Given the description of an element on the screen output the (x, y) to click on. 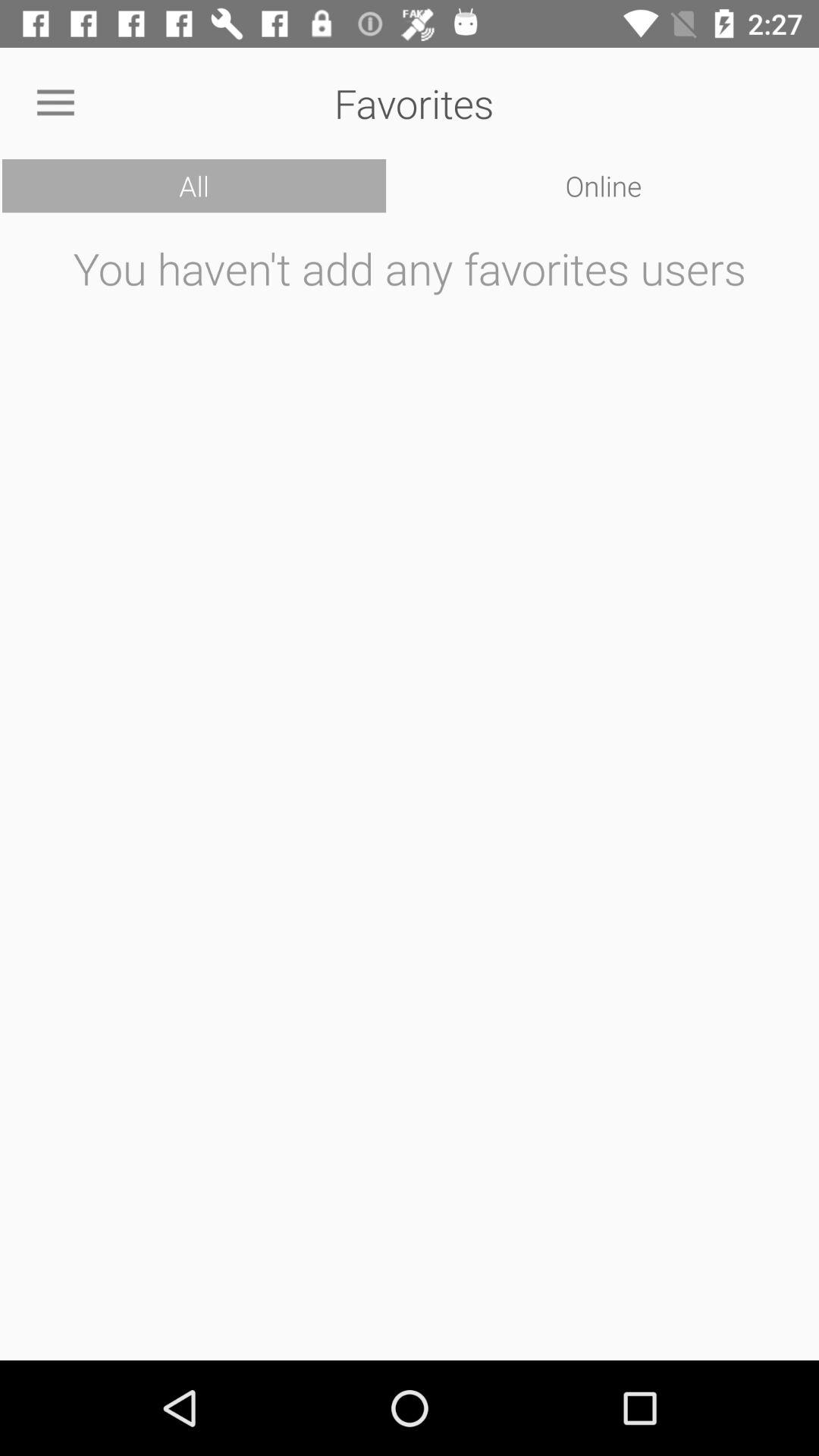
swipe to the all (194, 185)
